Given the description of an element on the screen output the (x, y) to click on. 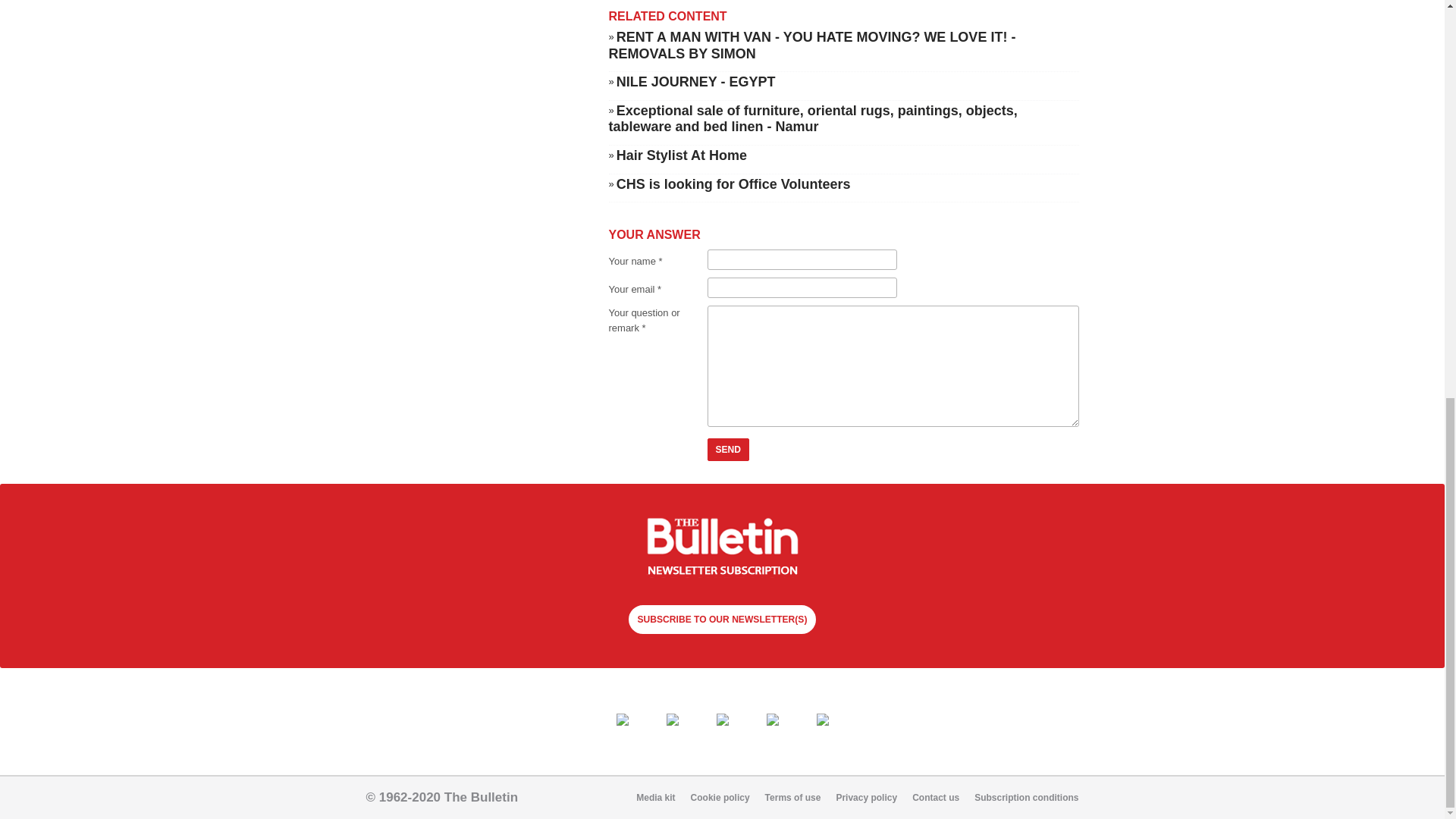
Close (238, 61)
www.sydexa.com (649, 7)
Send (727, 536)
Hair Stylist At Home (680, 242)
Subscribe now (721, 635)
CHS is looking for Office Volunteers (732, 271)
NILE JOURNEY - EGYPT (695, 168)
Send (727, 536)
